Given the description of an element on the screen output the (x, y) to click on. 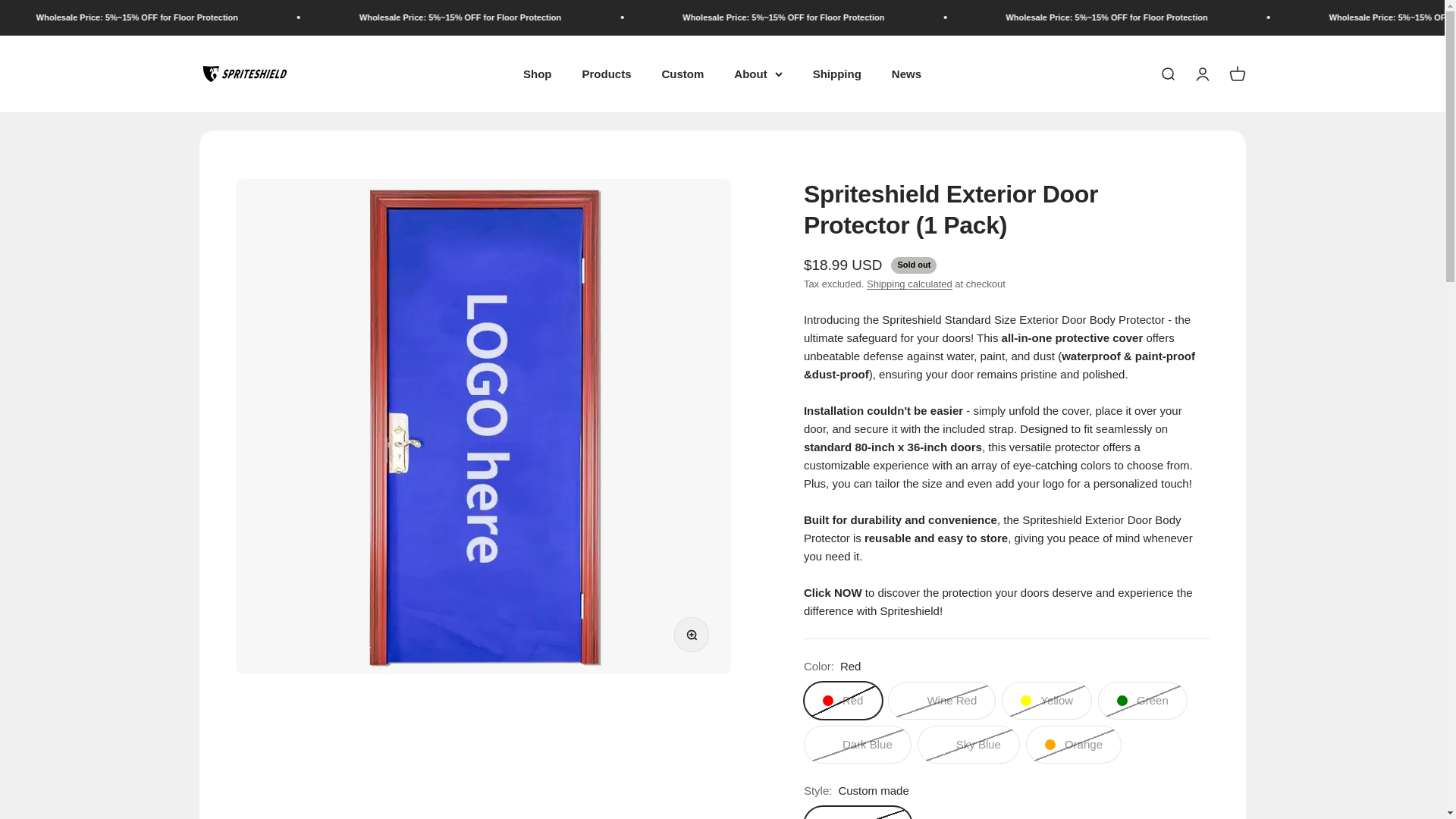
Red (1236, 73)
Spriteshield (836, 72)
Custom (243, 73)
Orange (682, 72)
Shop (605, 72)
Open account page (536, 72)
Zoom (1201, 73)
Open search (695, 639)
Shipping calculated (1166, 73)
